Given the description of an element on the screen output the (x, y) to click on. 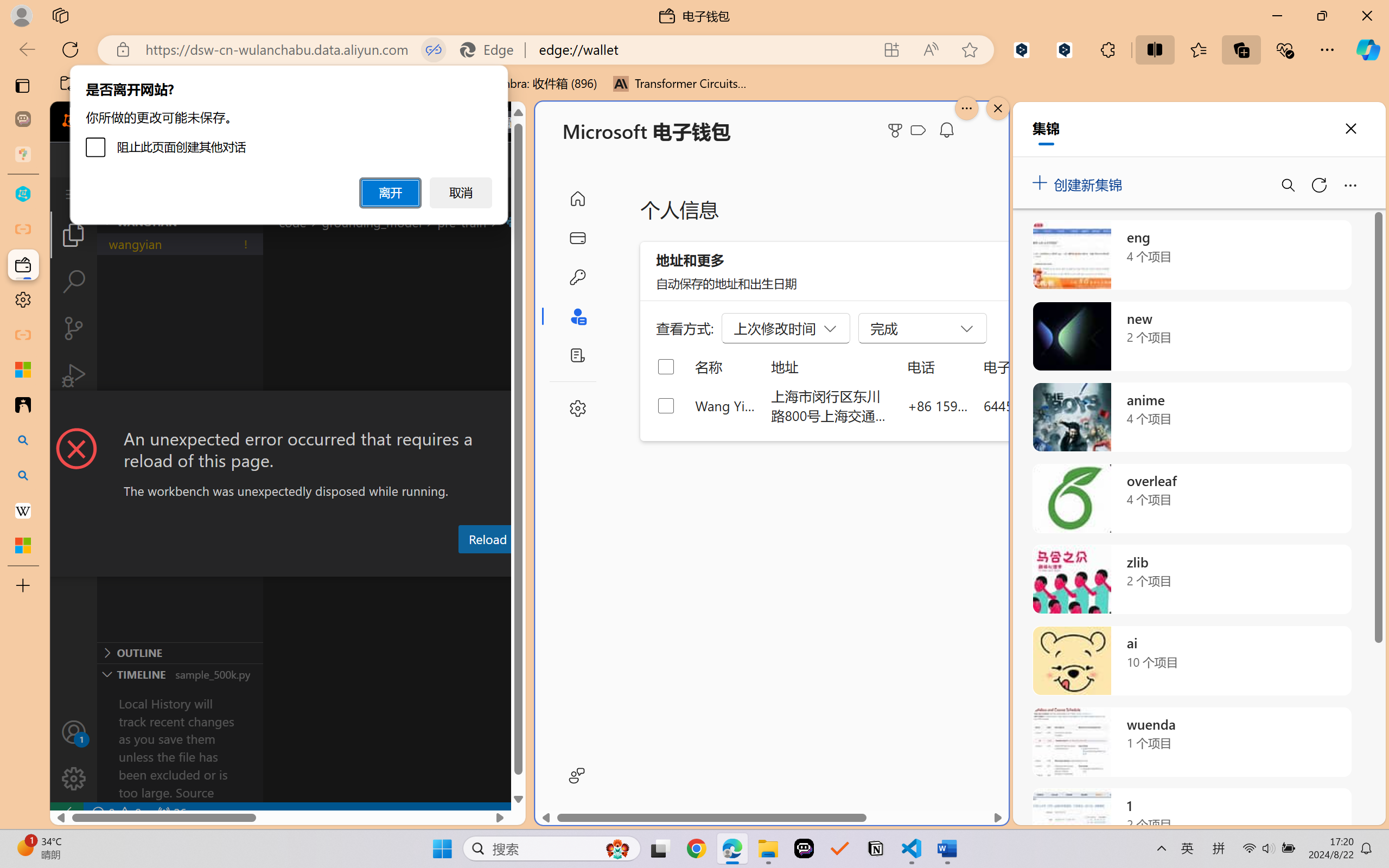
Microsoft Cashback (920, 130)
Manage (73, 778)
Wang Yian (725, 405)
